Given the description of an element on the screen output the (x, y) to click on. 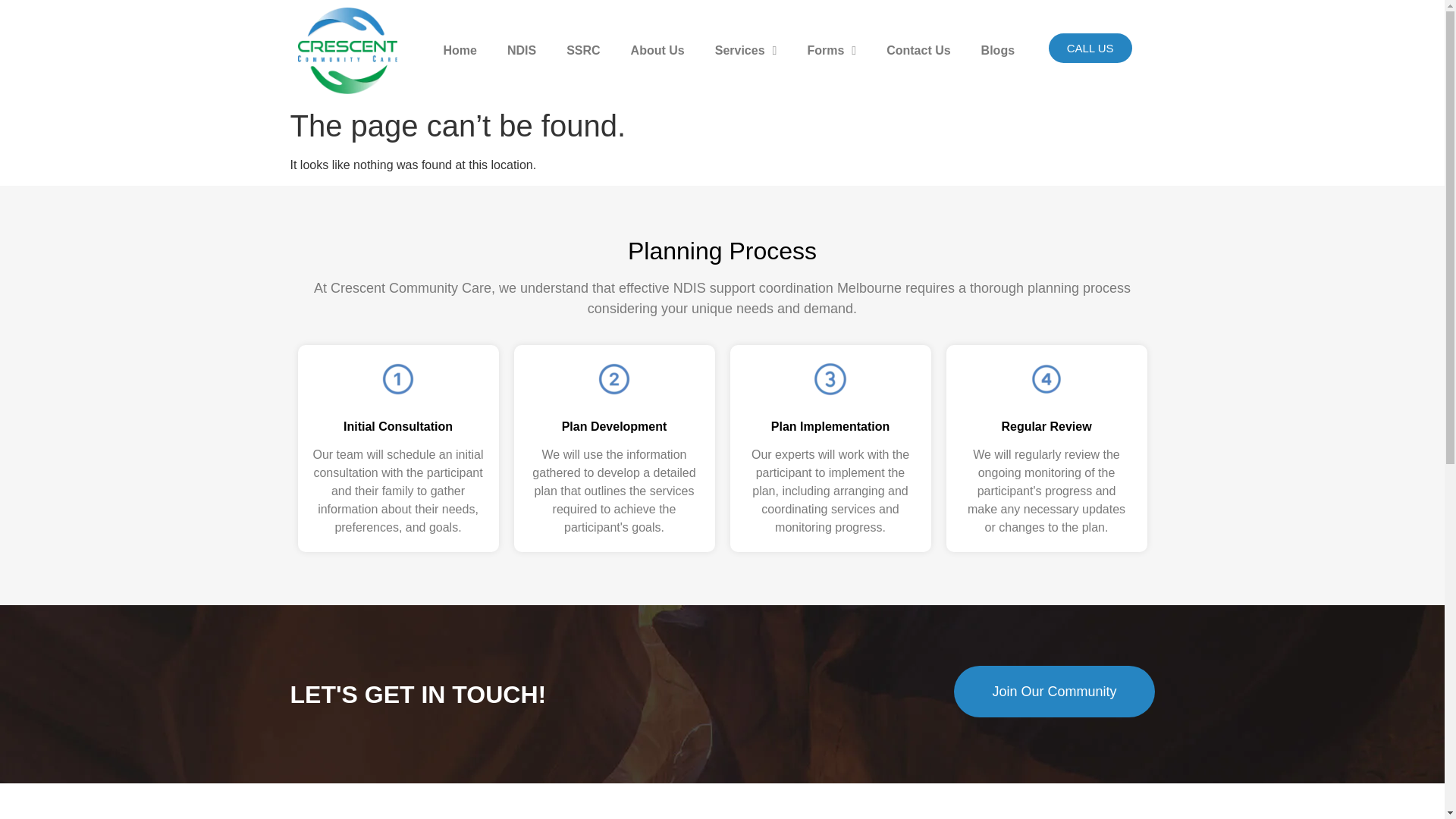
3 (829, 379)
2 (614, 379)
Blogs (997, 50)
Forms (831, 50)
Home (460, 50)
Services (746, 50)
4 (1046, 379)
About Us (657, 50)
1 (397, 379)
Contact Us (917, 50)
NDIS (521, 50)
SSRC (582, 50)
